Given the description of an element on the screen output the (x, y) to click on. 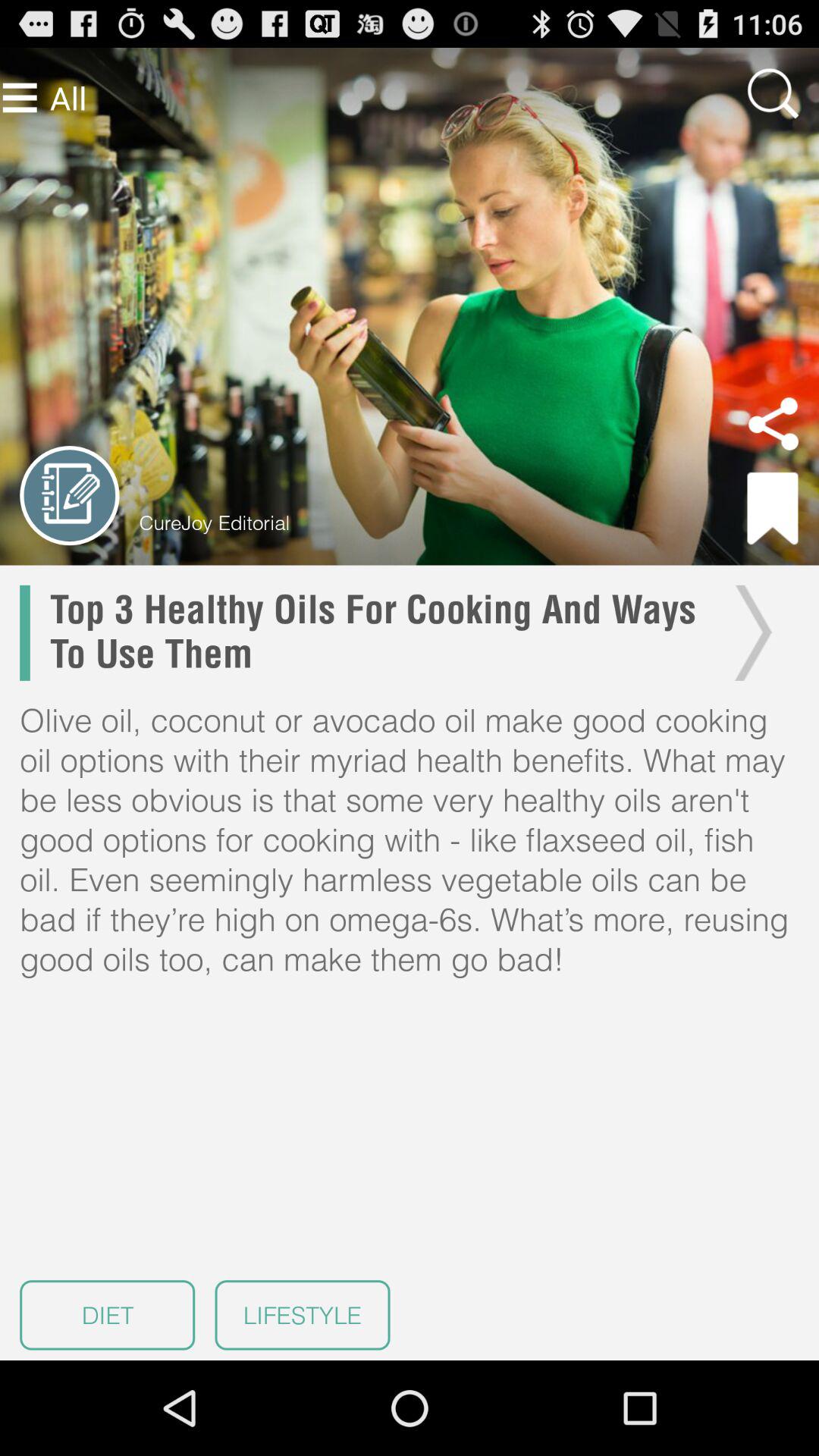
bookmark link (773, 508)
